Given the description of an element on the screen output the (x, y) to click on. 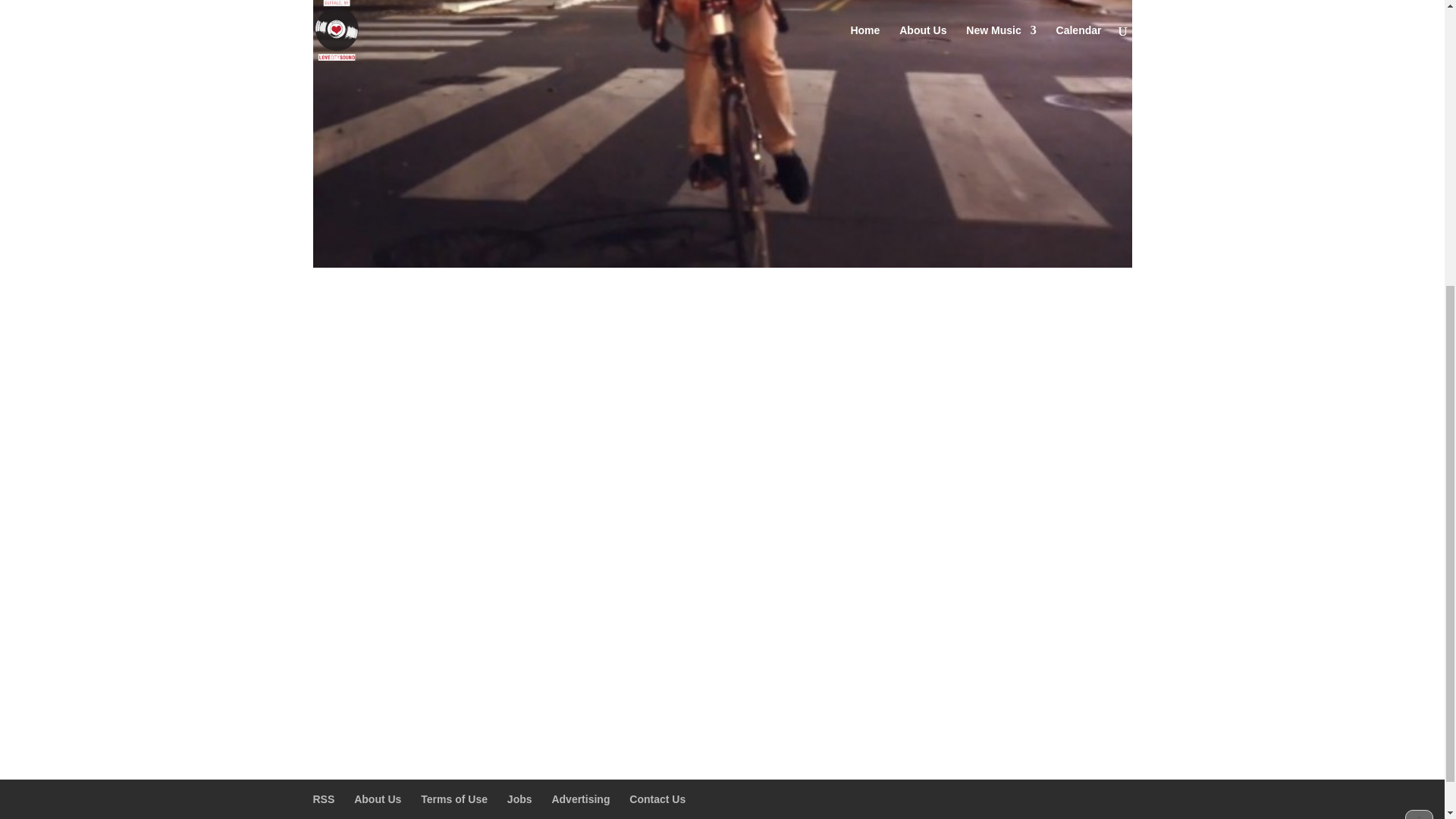
Jobs (519, 799)
Contact Us (656, 799)
Terms of Use (453, 799)
Advertising (580, 799)
RSS (323, 799)
About Us (377, 799)
